Given the description of an element on the screen output the (x, y) to click on. 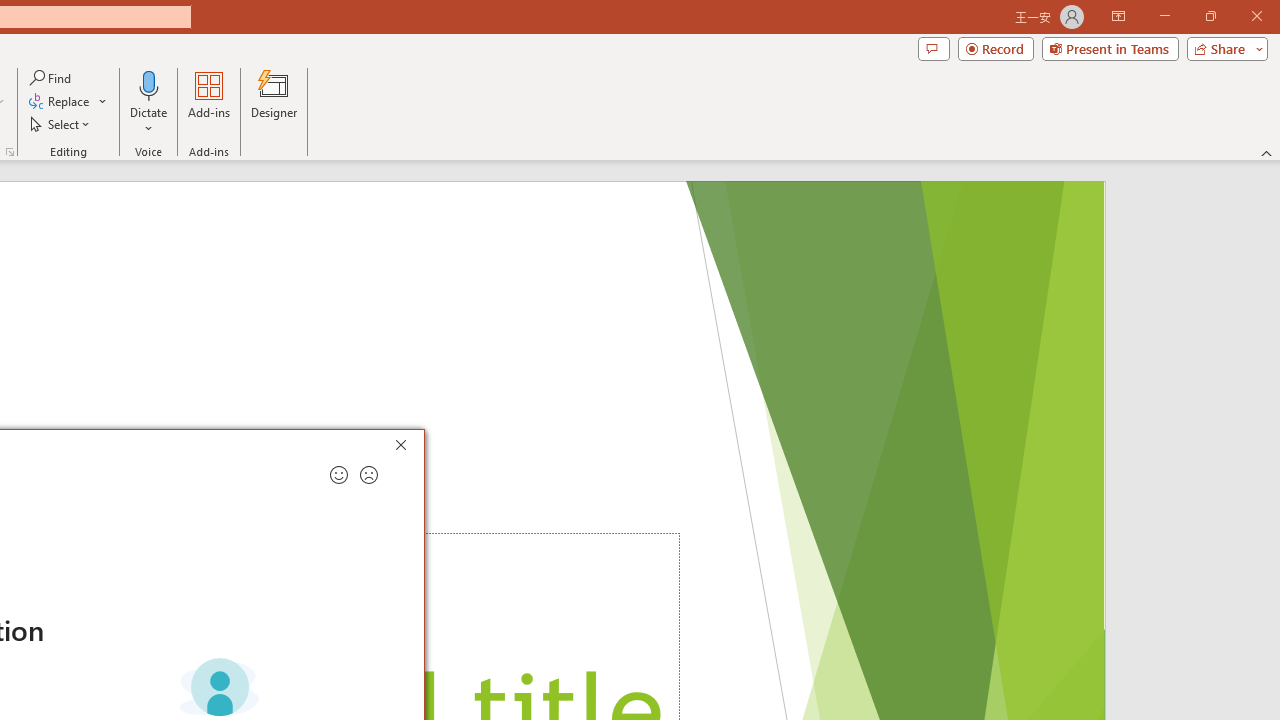
Send a frown for feedback (369, 475)
